Given the description of an element on the screen output the (x, y) to click on. 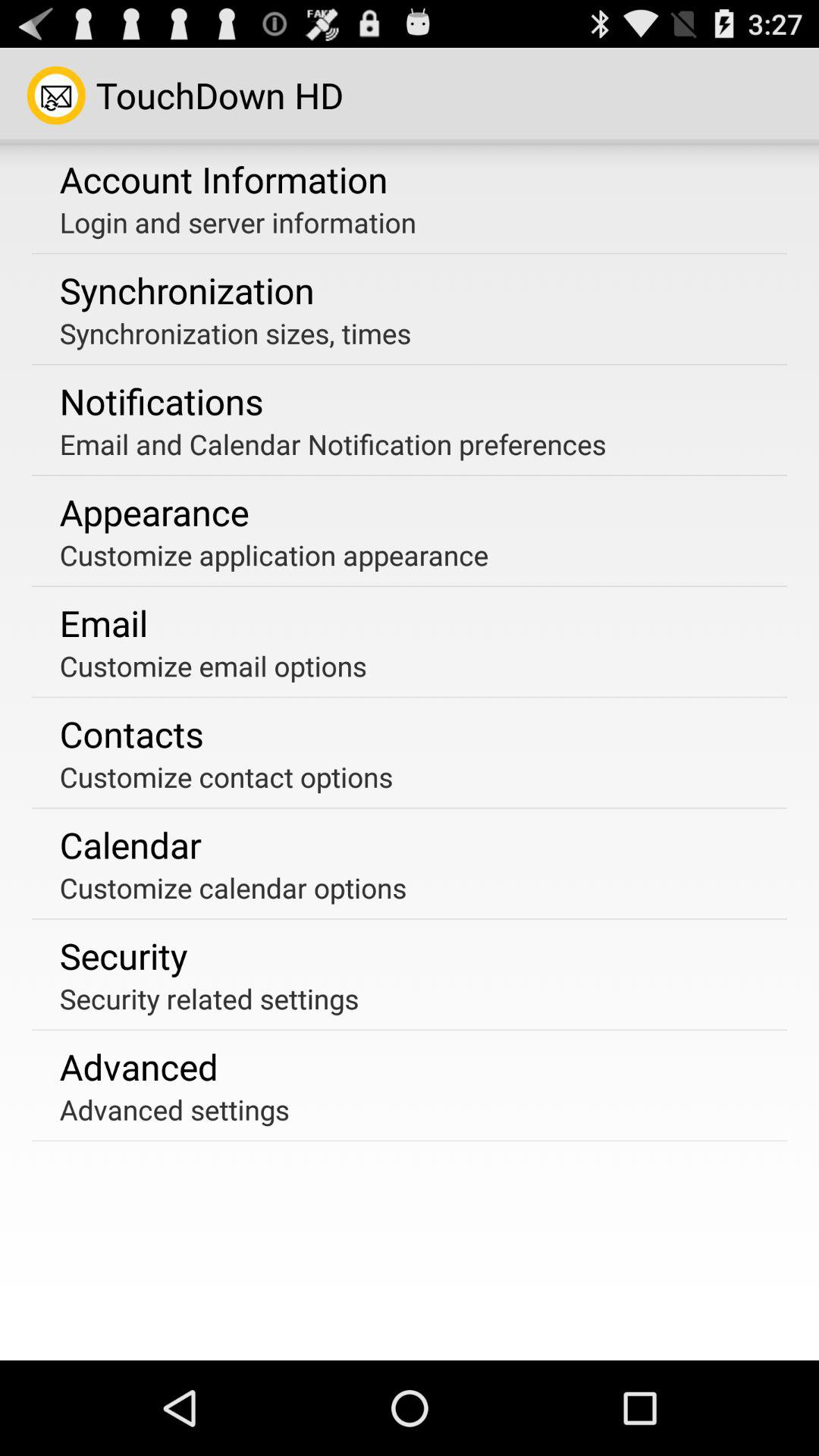
click the app below the synchronization (235, 333)
